Given the description of an element on the screen output the (x, y) to click on. 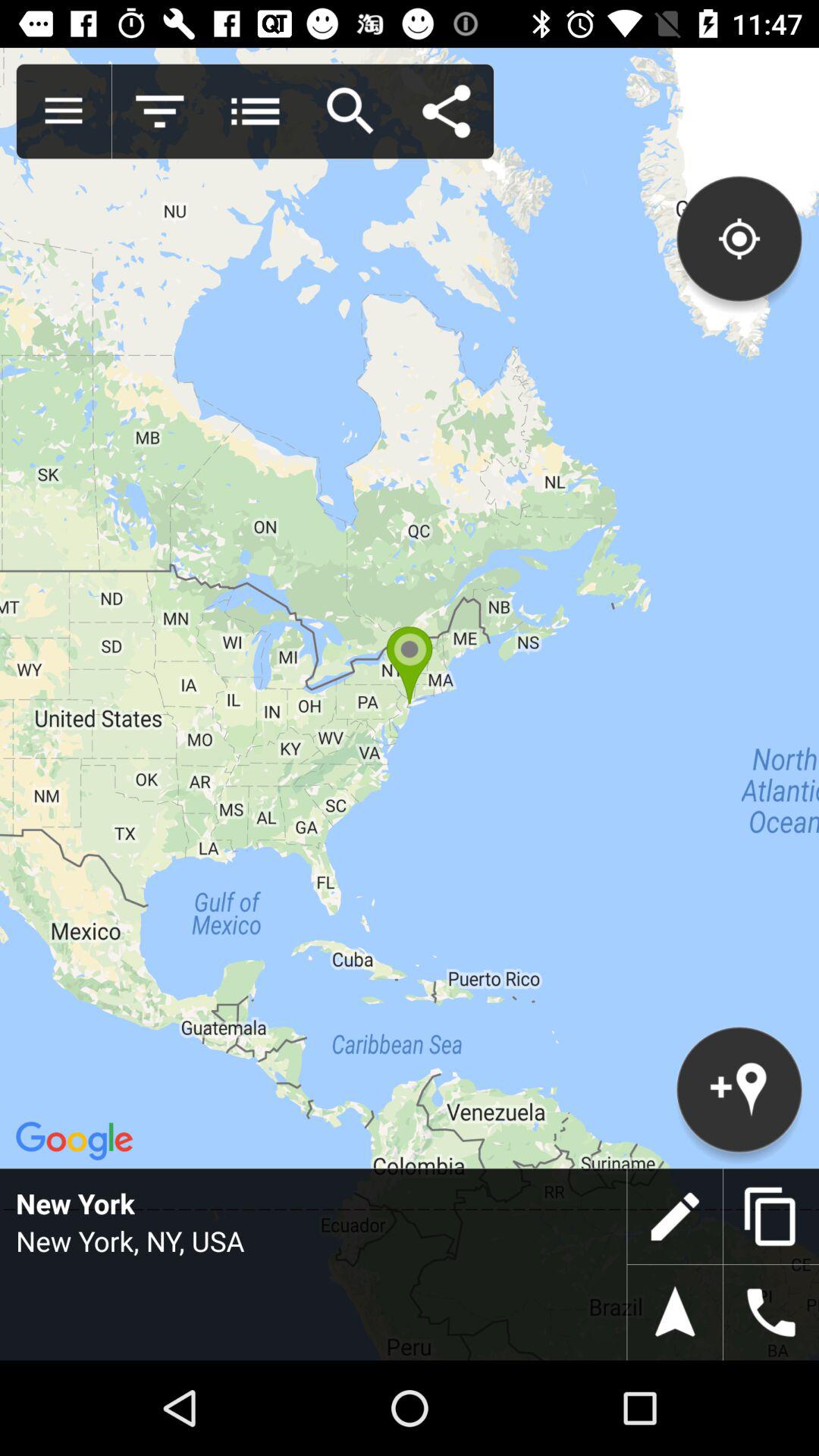
options (63, 111)
